Given the description of an element on the screen output the (x, y) to click on. 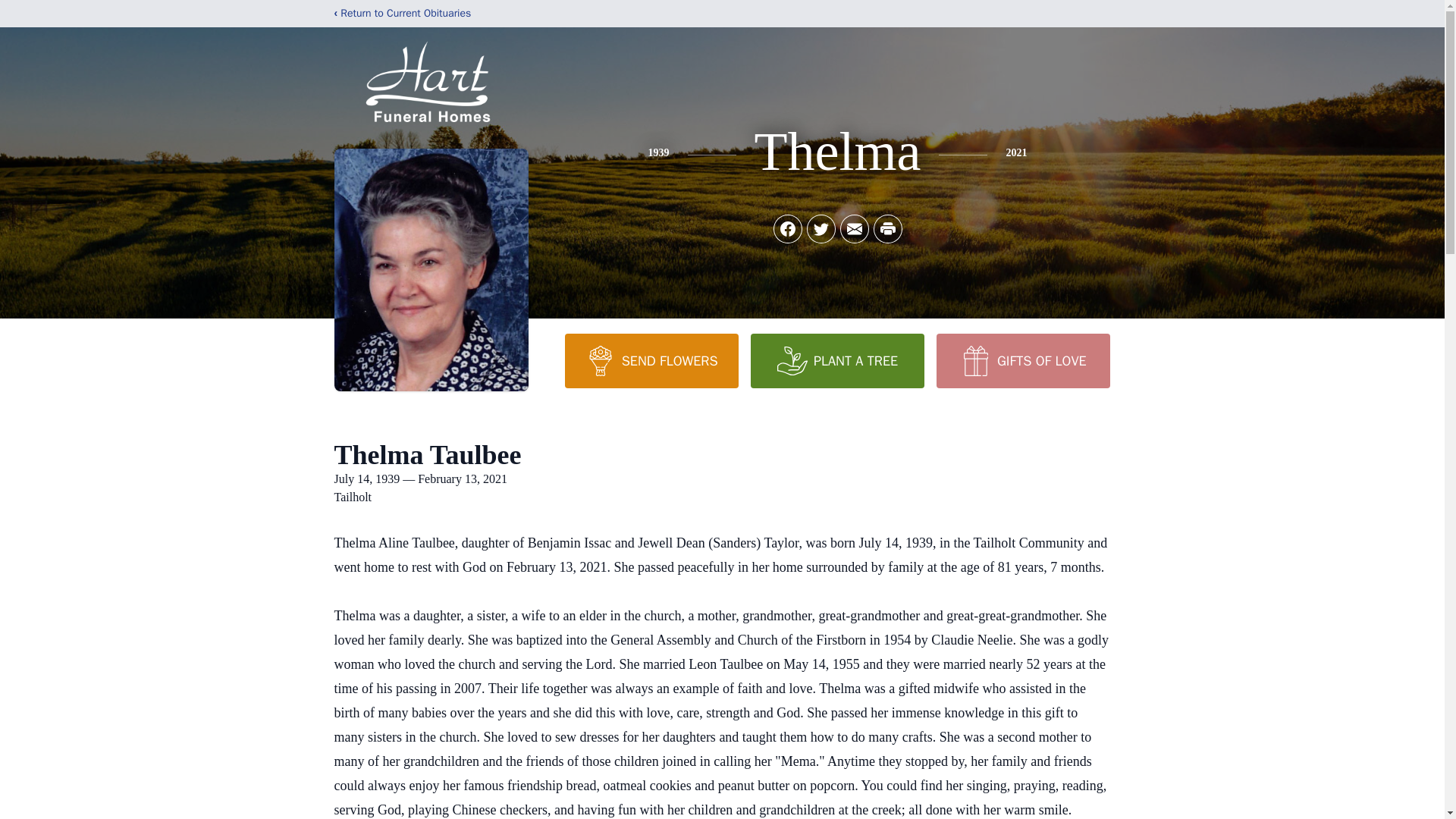
GIFTS OF LOVE (1022, 360)
SEND FLOWERS (651, 360)
PLANT A TREE (837, 360)
